Given the description of an element on the screen output the (x, y) to click on. 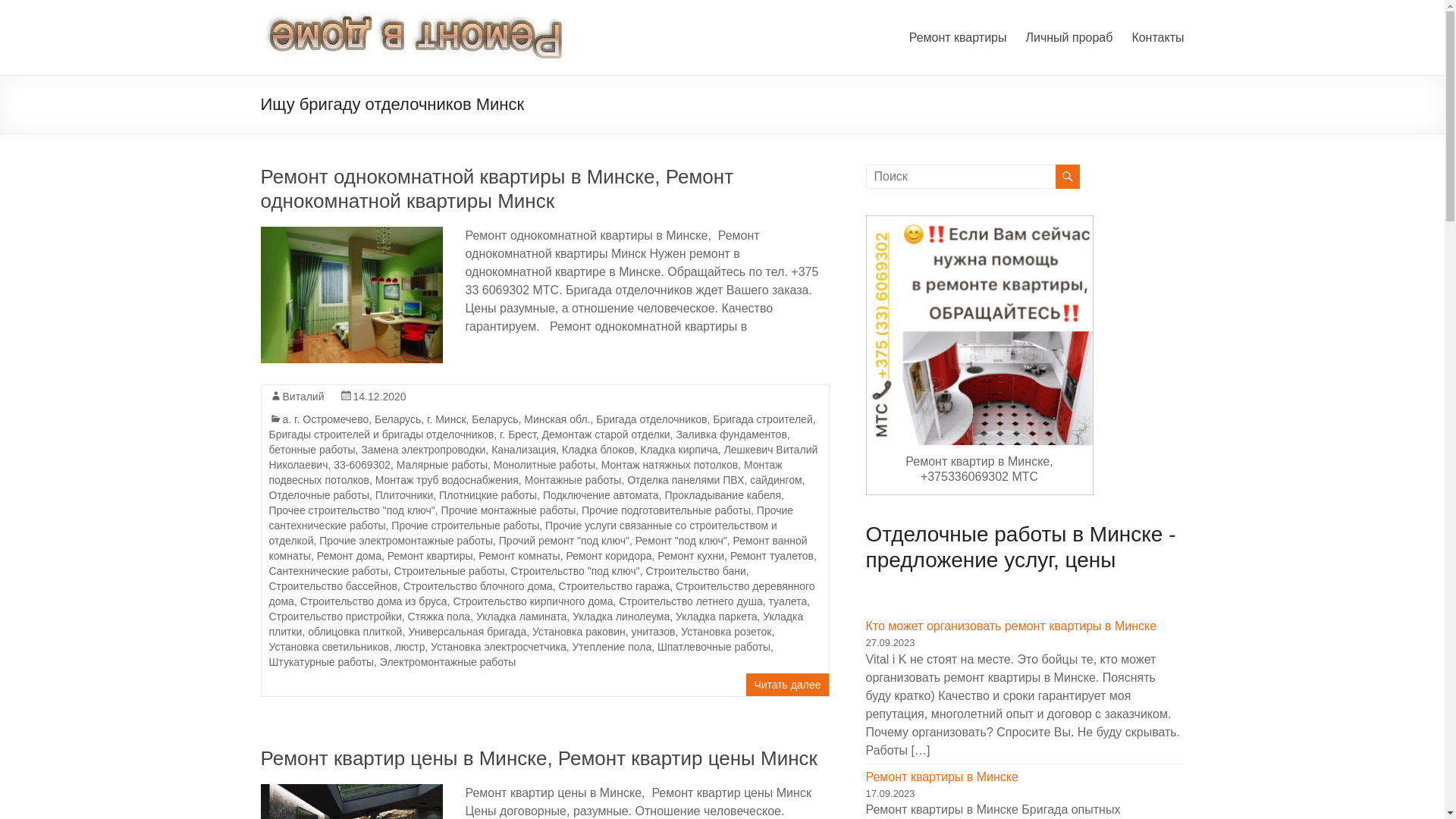
14.12.2020 Element type: text (379, 396)
